Given the description of an element on the screen output the (x, y) to click on. 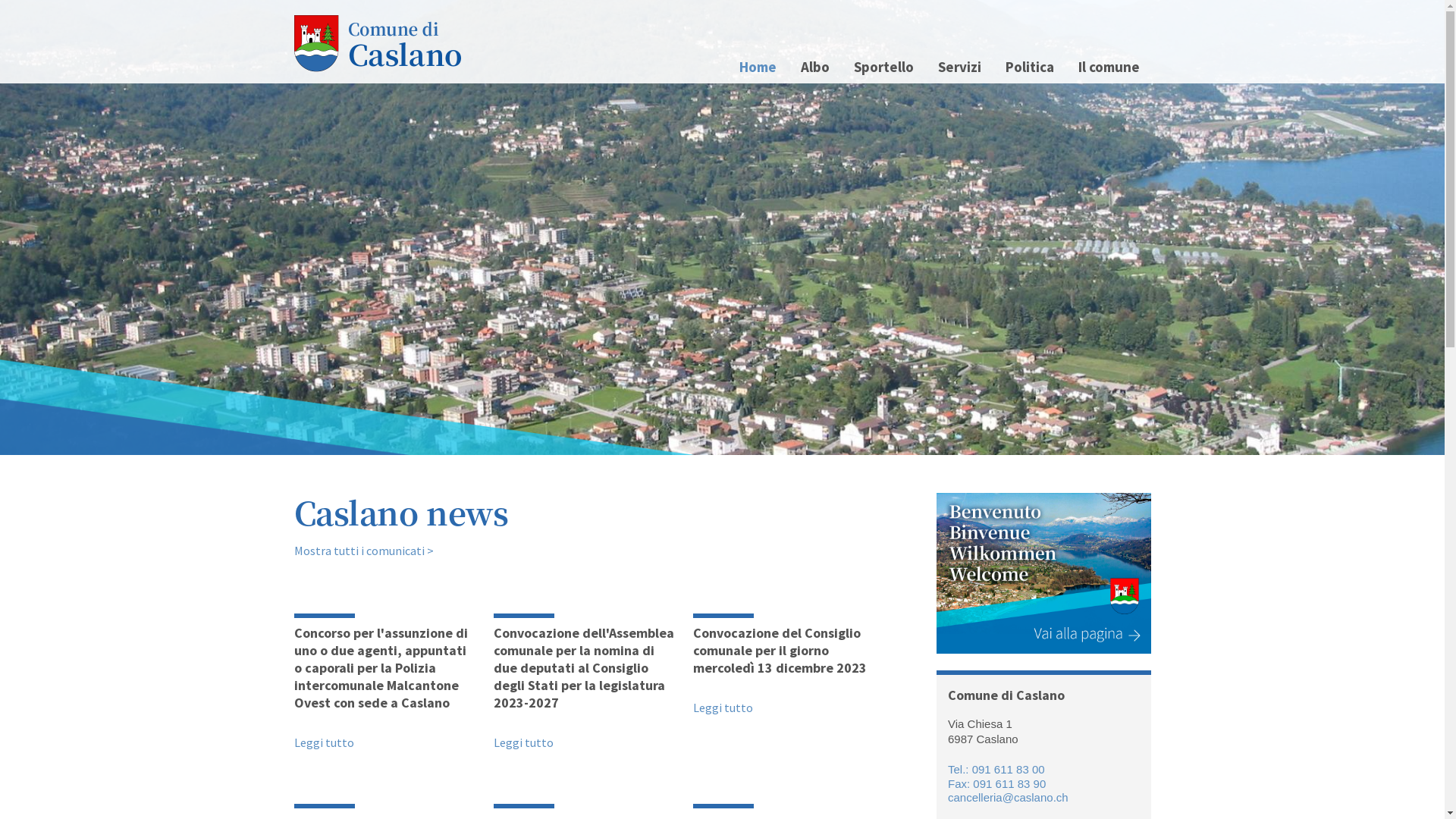
cancelleria@caslano.ch Element type: text (1007, 796)
Tel.: 091 611 83 00 Element type: text (995, 768)
Leggi tutto Element type: text (783, 664)
Sportello Element type: text (882, 66)
Servizi Element type: text (959, 66)
Fax: 091 611 83 90 Element type: text (996, 783)
Home Element type: text (757, 66)
Leggi tutto Element type: text (523, 741)
Politica Element type: text (1028, 66)
Leggi tutto Element type: text (723, 707)
Leggi tutto Element type: text (384, 681)
Mostra tutti i comunicati > Element type: text (363, 550)
Leggi tutto Element type: text (583, 681)
Leggi tutto Element type: text (324, 741)
Vai alla pagina Benvenuto Element type: hover (1043, 572)
Il comune Element type: text (1108, 66)
Albo Element type: text (814, 66)
